Given the description of an element on the screen output the (x, y) to click on. 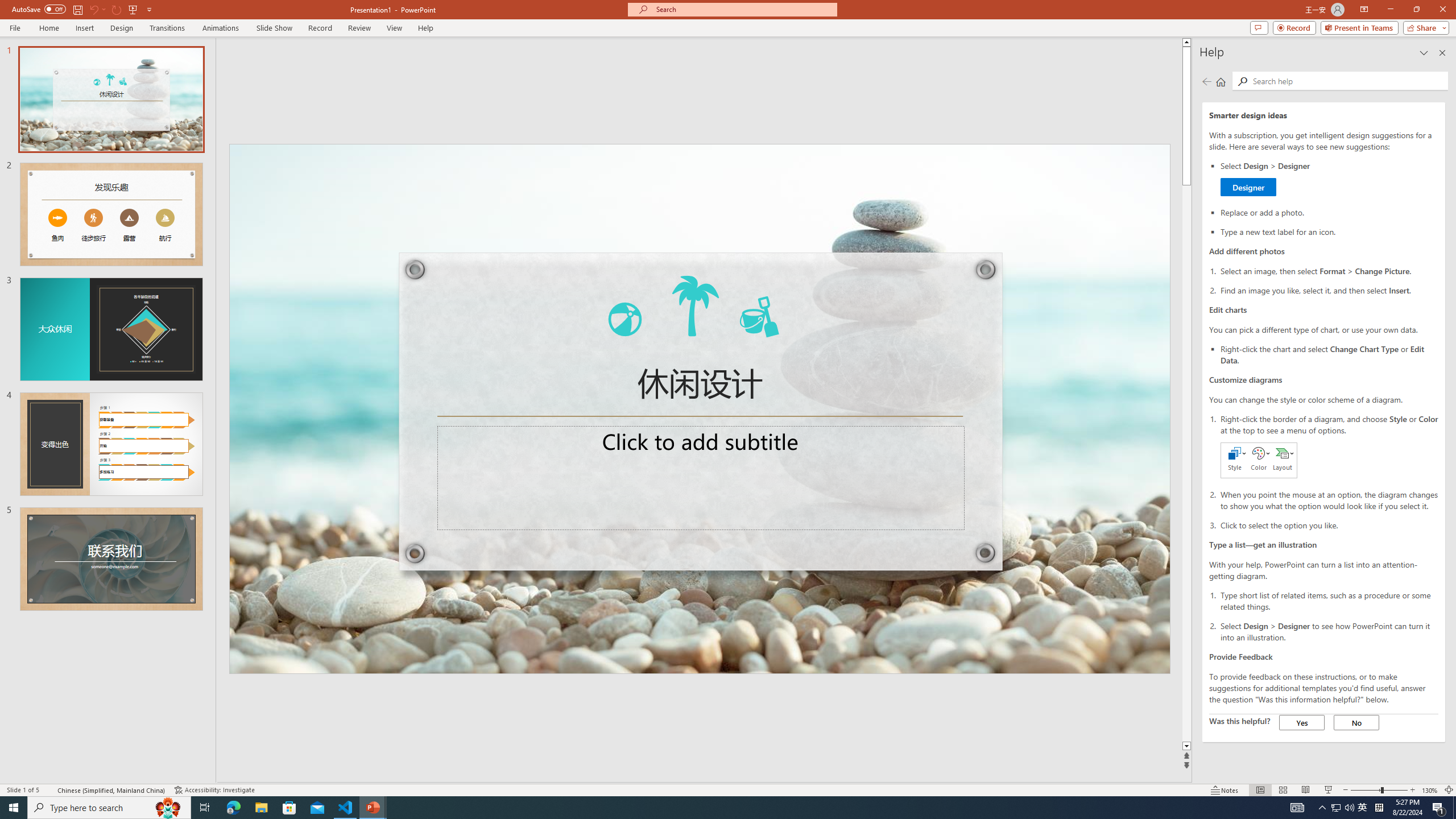
Click to select the option you like. (1329, 524)
Zoom 130% (1430, 790)
